Given the description of an element on the screen output the (x, y) to click on. 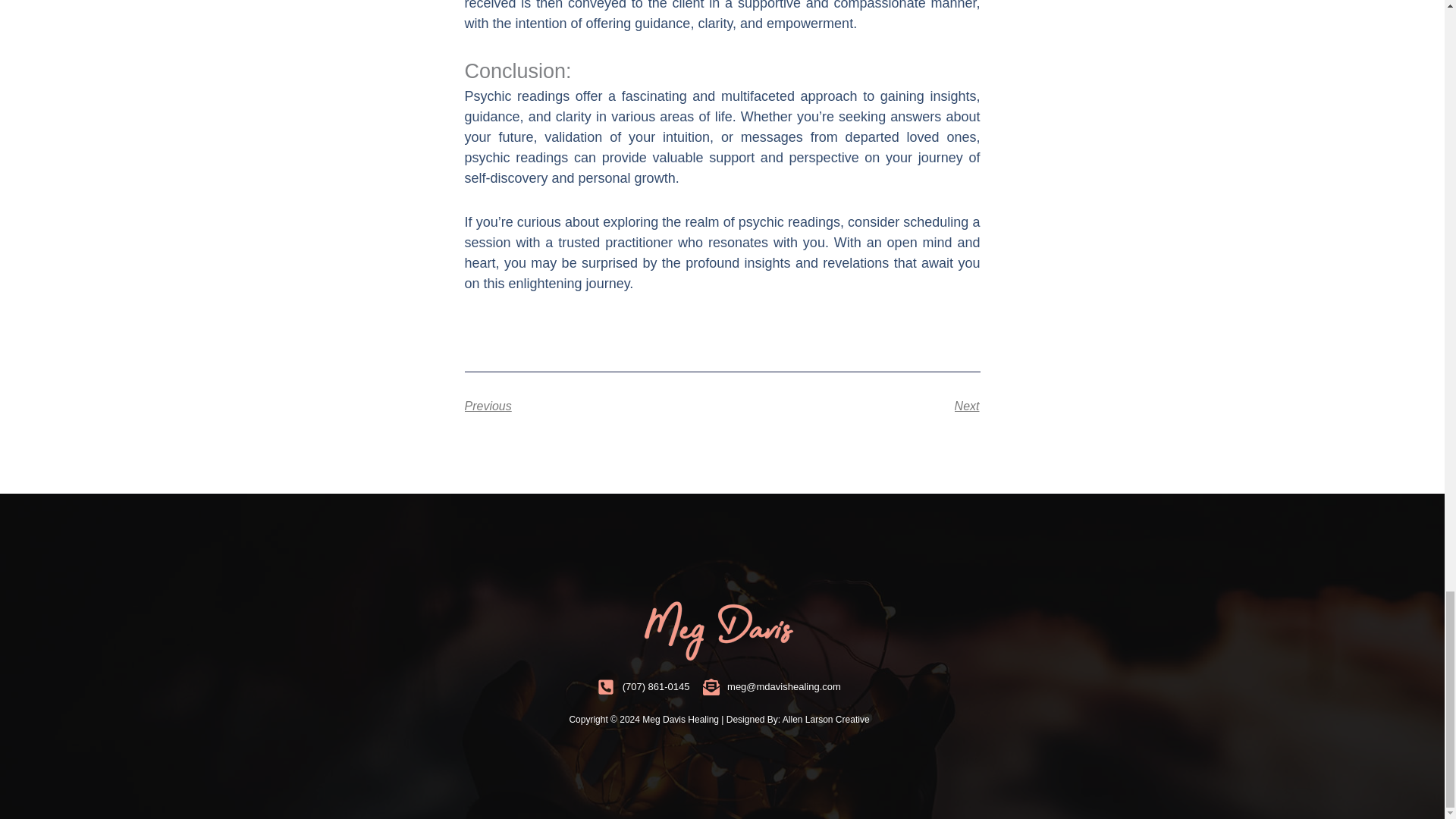
Previous (593, 405)
Allen Larson Creative (826, 719)
Next (850, 405)
